Given the description of an element on the screen output the (x, y) to click on. 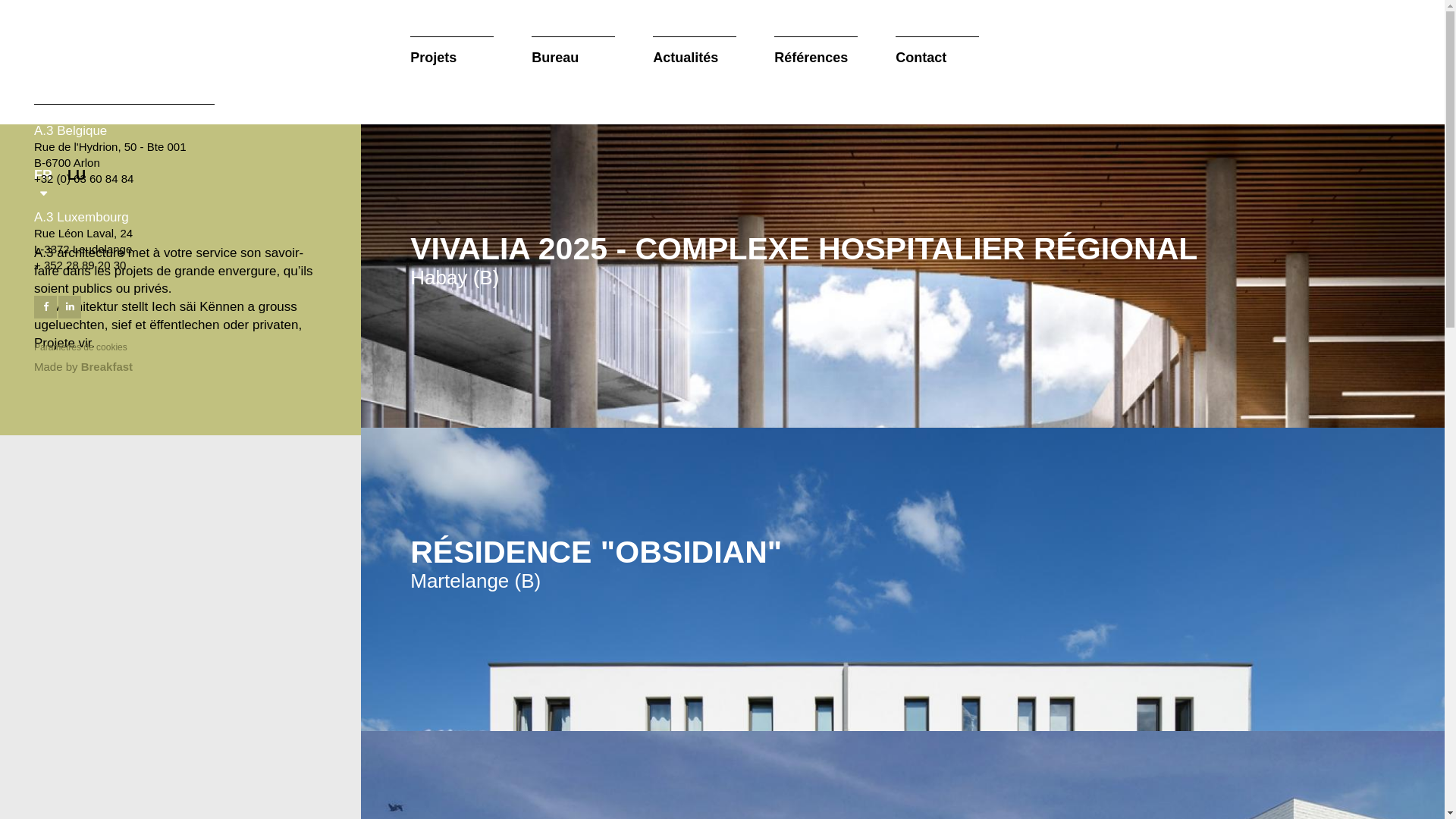
Contact Element type: text (937, 52)
FR Element type: text (43, 184)
Habay (B) Element type: text (454, 277)
LU Element type: text (76, 184)
Projets Element type: text (451, 52)
Martelange (B) Element type: text (475, 580)
Breakfast Element type: text (106, 366)
A3 Architecture Element type: text (106, 62)
Bureau Element type: text (573, 52)
